Given the description of an element on the screen output the (x, y) to click on. 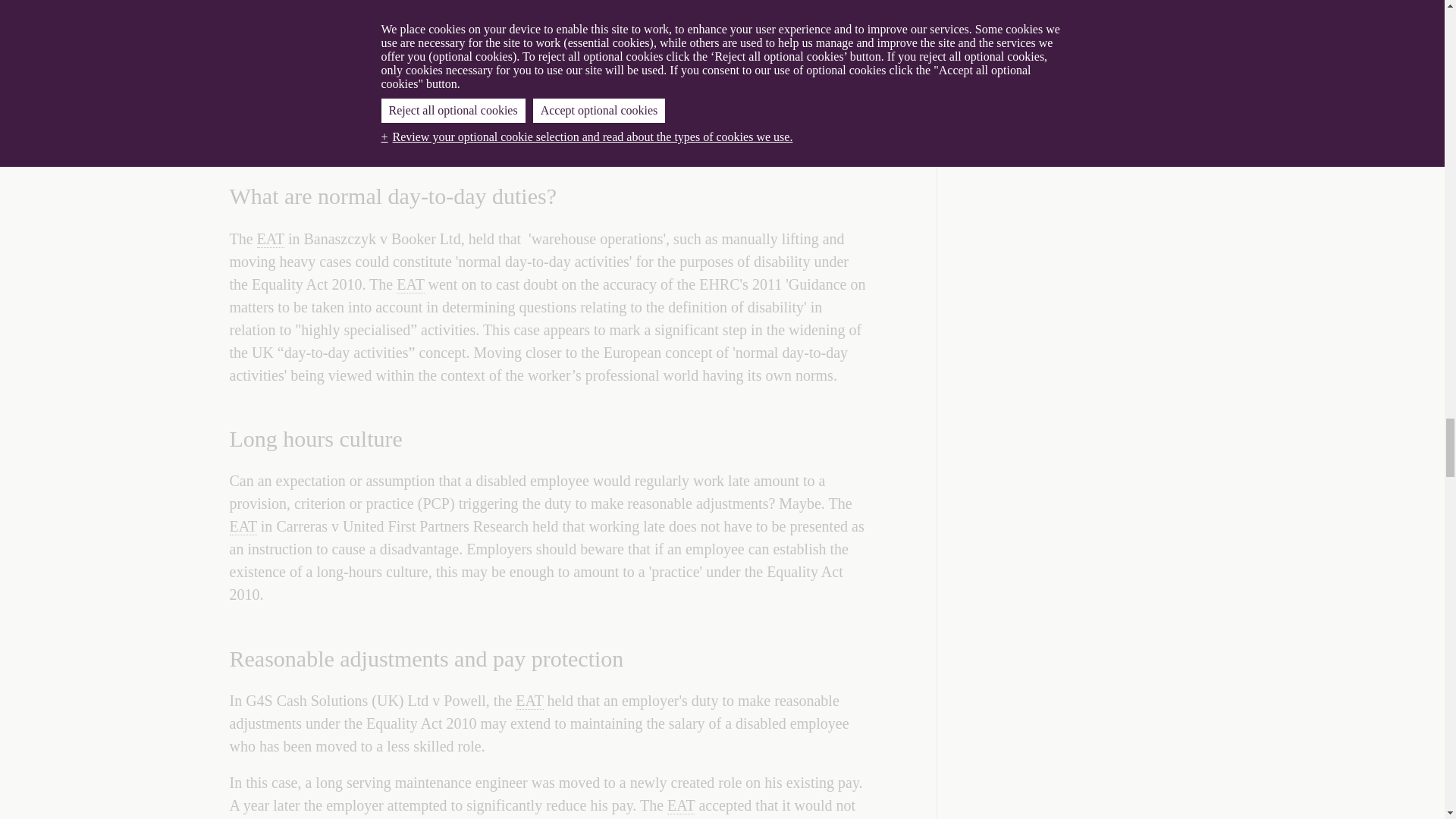
Employment Appeal Tribunal (270, 239)
Employment Appeal Tribunal (529, 701)
Employment Appeal Tribunal (680, 805)
Employment Appeal Tribunal (242, 526)
Employment Appeal Tribunal (409, 284)
